Given the description of an element on the screen output the (x, y) to click on. 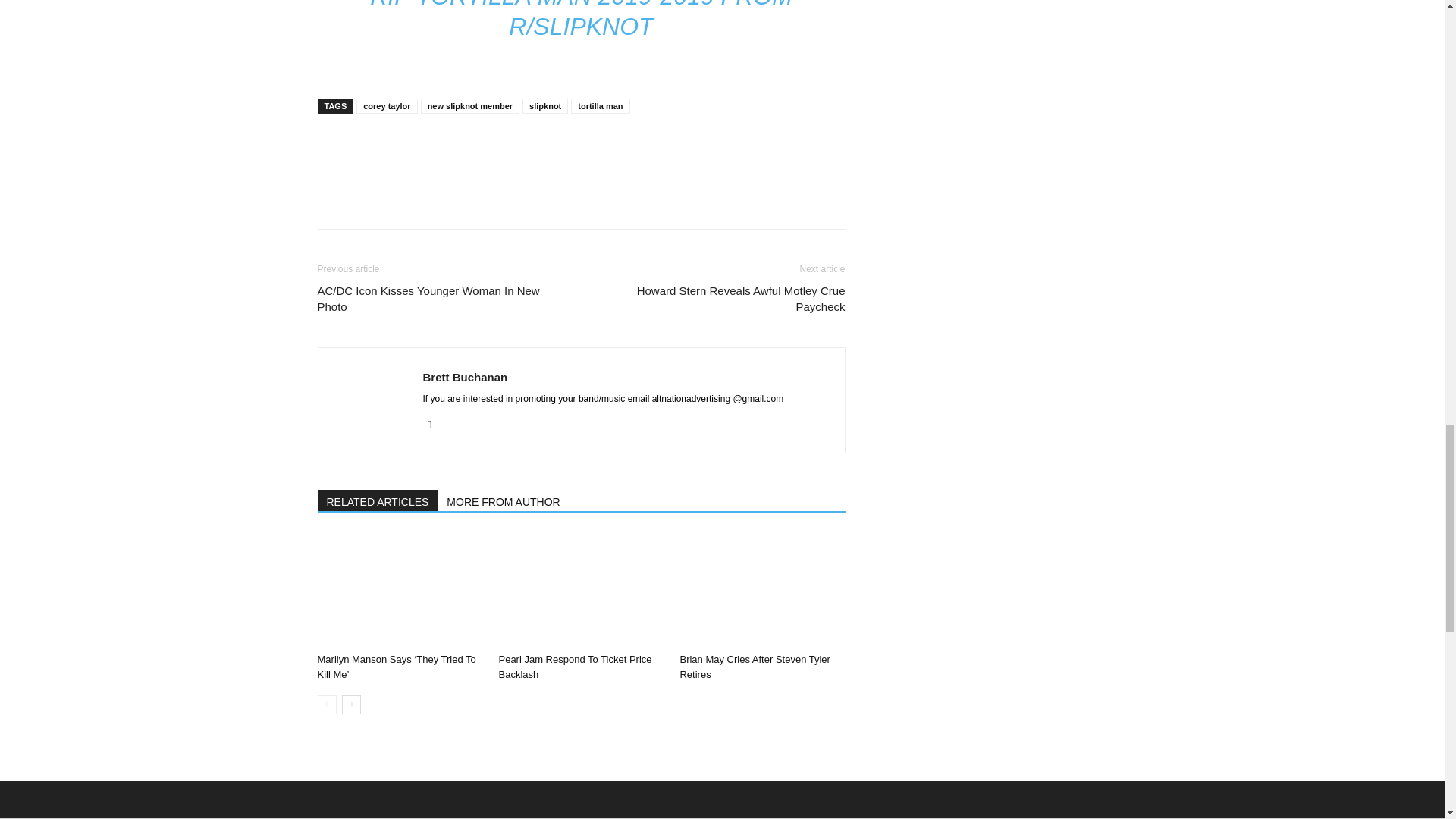
RIP TORTILLA MAN 2019-2019 (541, 4)
bottomFacebookLike (430, 163)
